Given the description of an element on the screen output the (x, y) to click on. 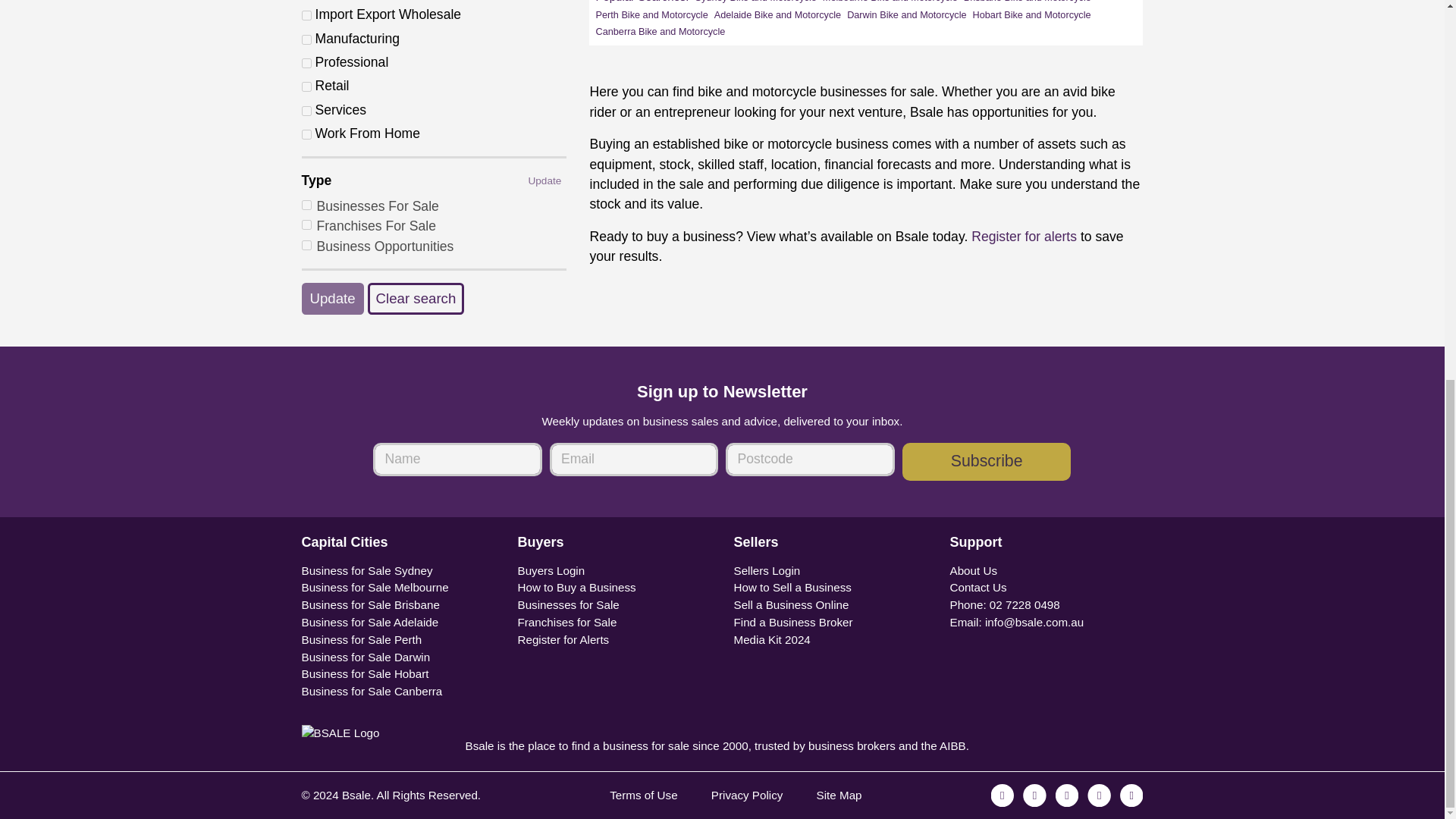
33 (306, 134)
9 (306, 40)
12 (306, 86)
14 (306, 111)
Follow us on LinkedIn (1098, 794)
8 (306, 15)
Follow us on Twitter (1066, 794)
Follow us on Instagram (1034, 794)
11 (306, 62)
Follow us on Facebook (1002, 794)
Follow us on Youtube (1130, 794)
